Given the description of an element on the screen output the (x, y) to click on. 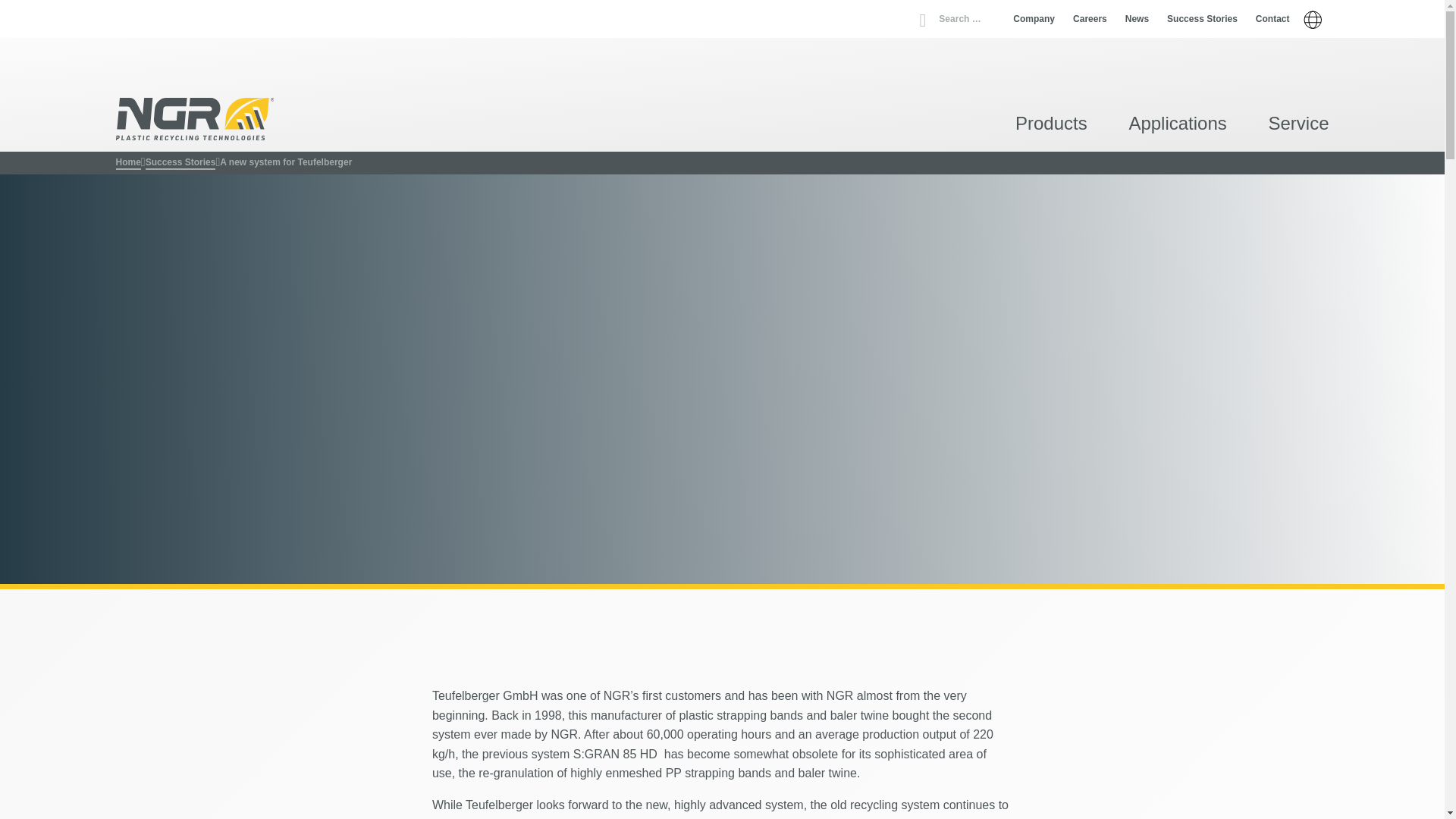
Contact (1272, 18)
Applications (1176, 125)
Products (1050, 125)
News (1136, 18)
Success Stories (1202, 18)
Search for: (962, 18)
Company (1033, 18)
Home (127, 162)
Success Stories (180, 162)
A new system for Teufelberger (285, 162)
Careers (1089, 18)
